Given the description of an element on the screen output the (x, y) to click on. 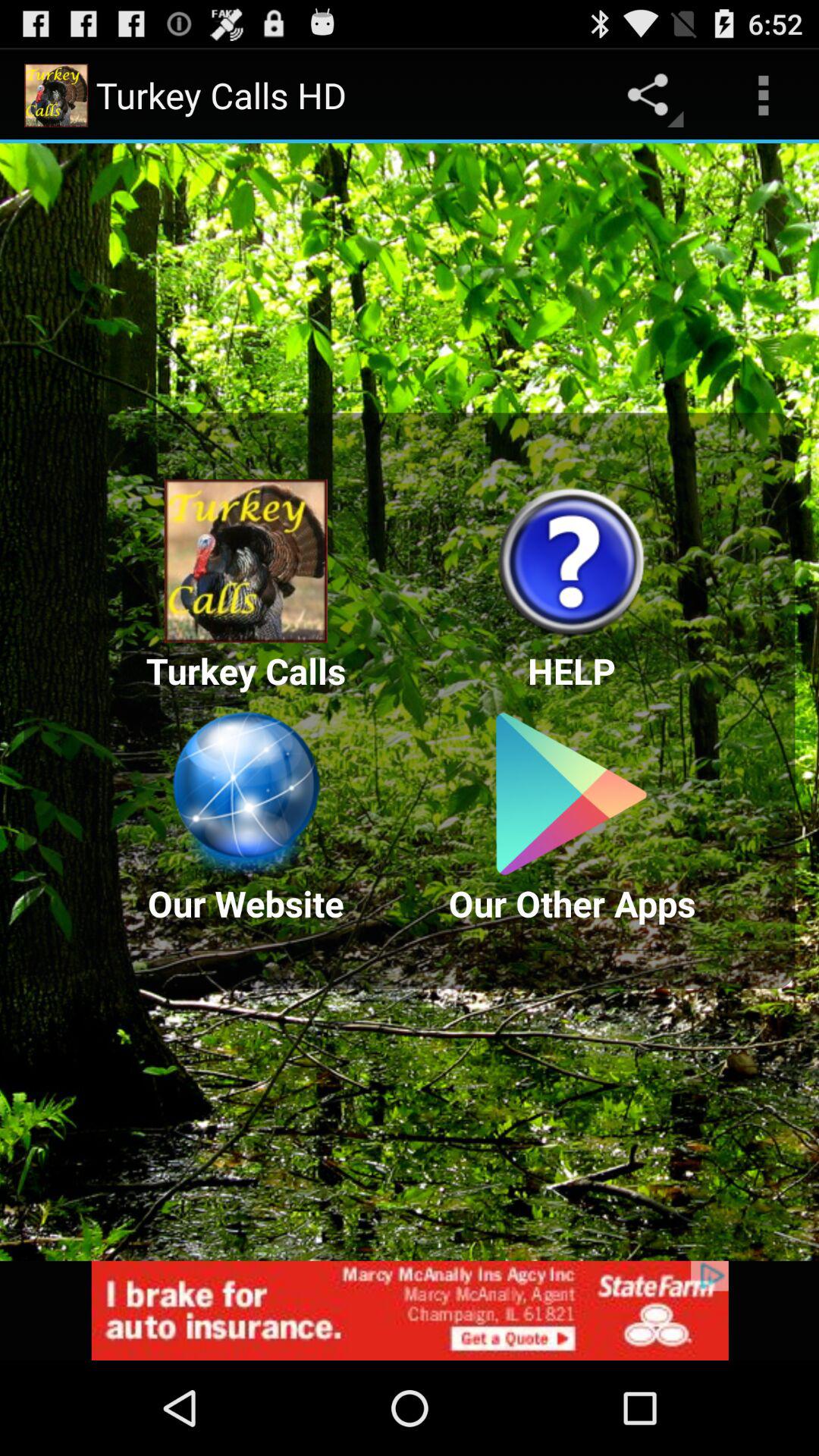
advertisement (409, 1310)
